Given the description of an element on the screen output the (x, y) to click on. 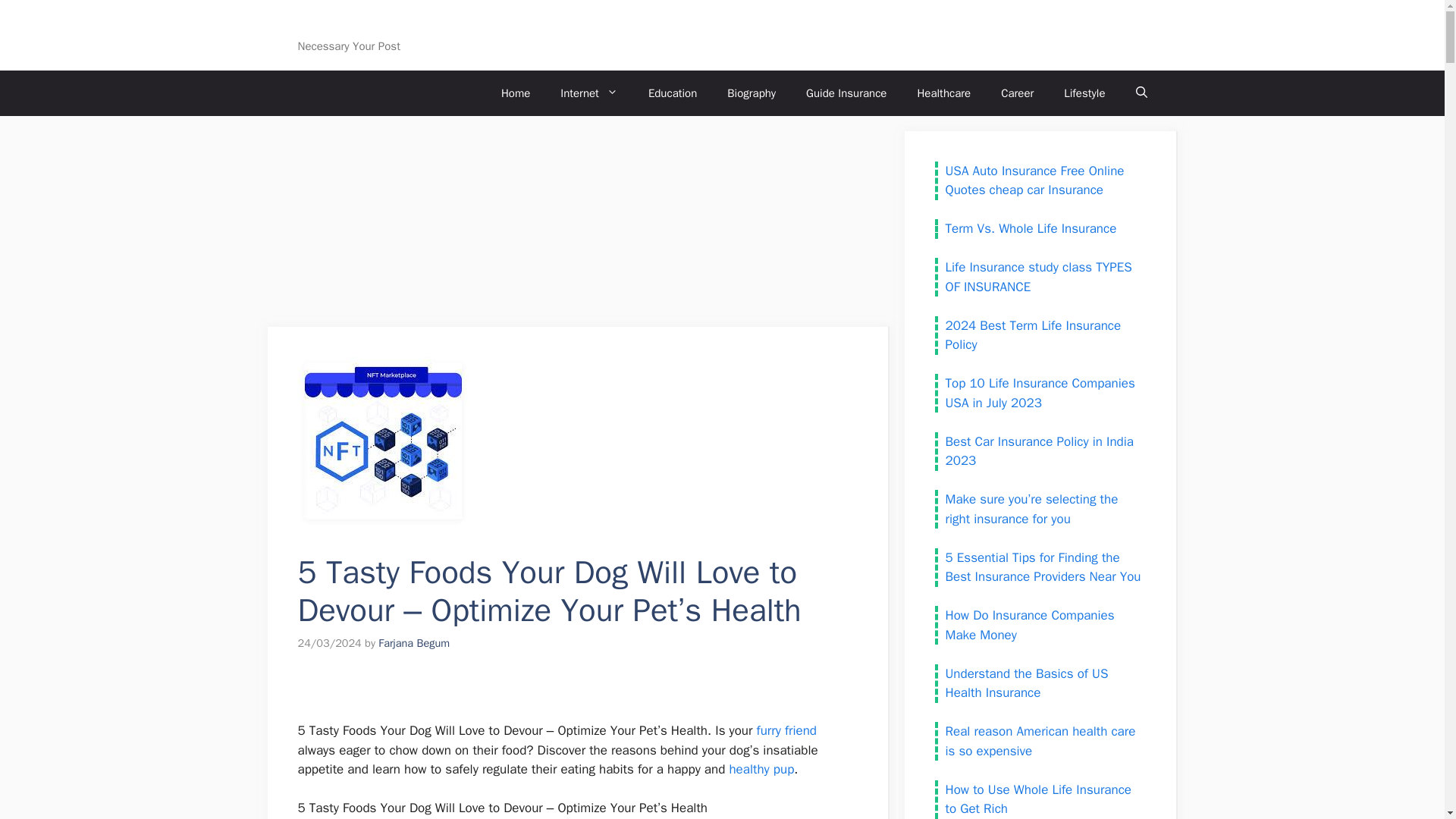
Farjana Begum (413, 642)
Home (515, 92)
View all posts by Farjana Begum (413, 642)
Internet (588, 92)
Career (1016, 92)
healthy pup (761, 769)
Nur Post (332, 25)
Healthcare (943, 92)
Lifestyle (1083, 92)
Biography (750, 92)
Education (672, 92)
Guide Insurance (845, 92)
furry friend (786, 730)
